Given the description of an element on the screen output the (x, y) to click on. 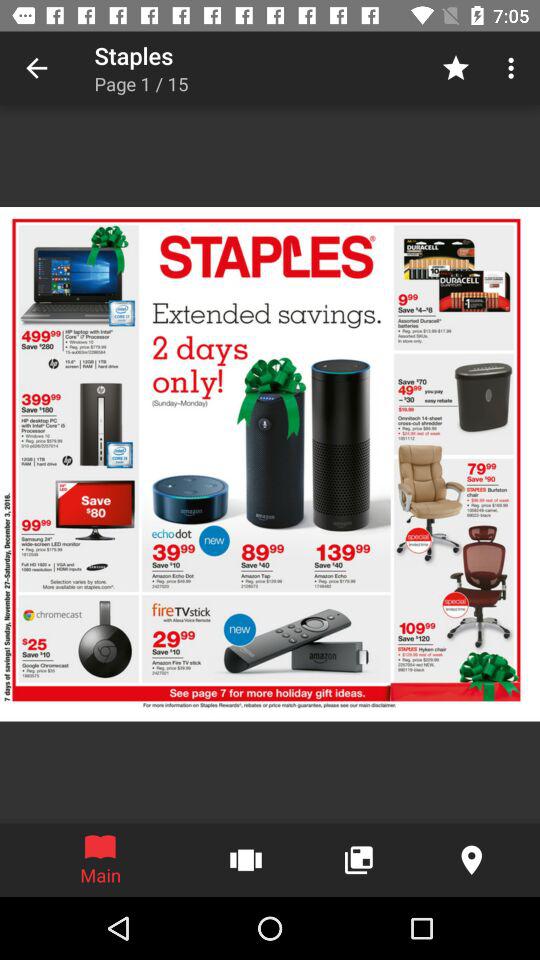
launch the icon next to the staples item (36, 68)
